Given the description of an element on the screen output the (x, y) to click on. 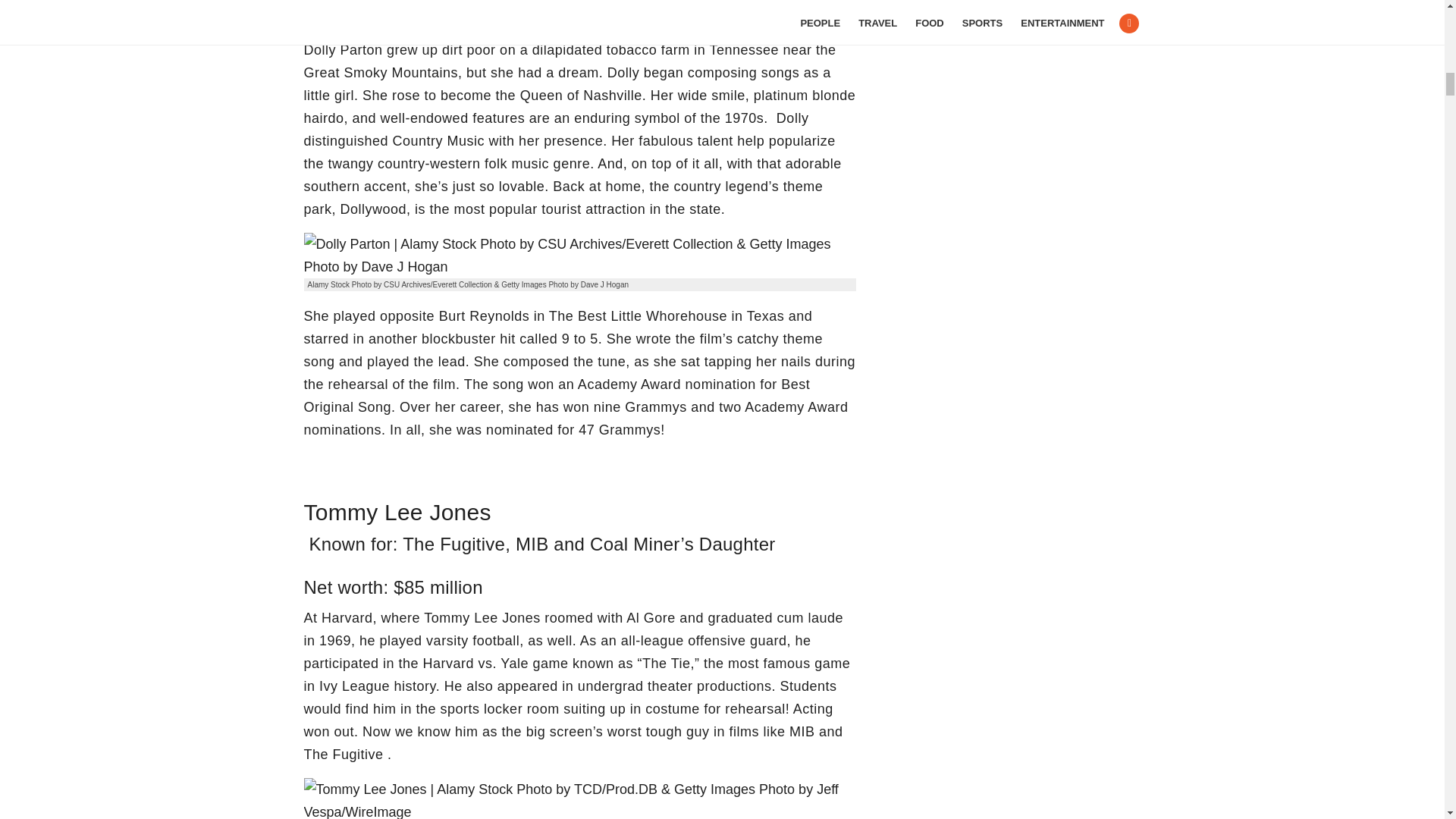
Dolly Parton (579, 255)
Tommy Lee Jones (579, 798)
